Given the description of an element on the screen output the (x, y) to click on. 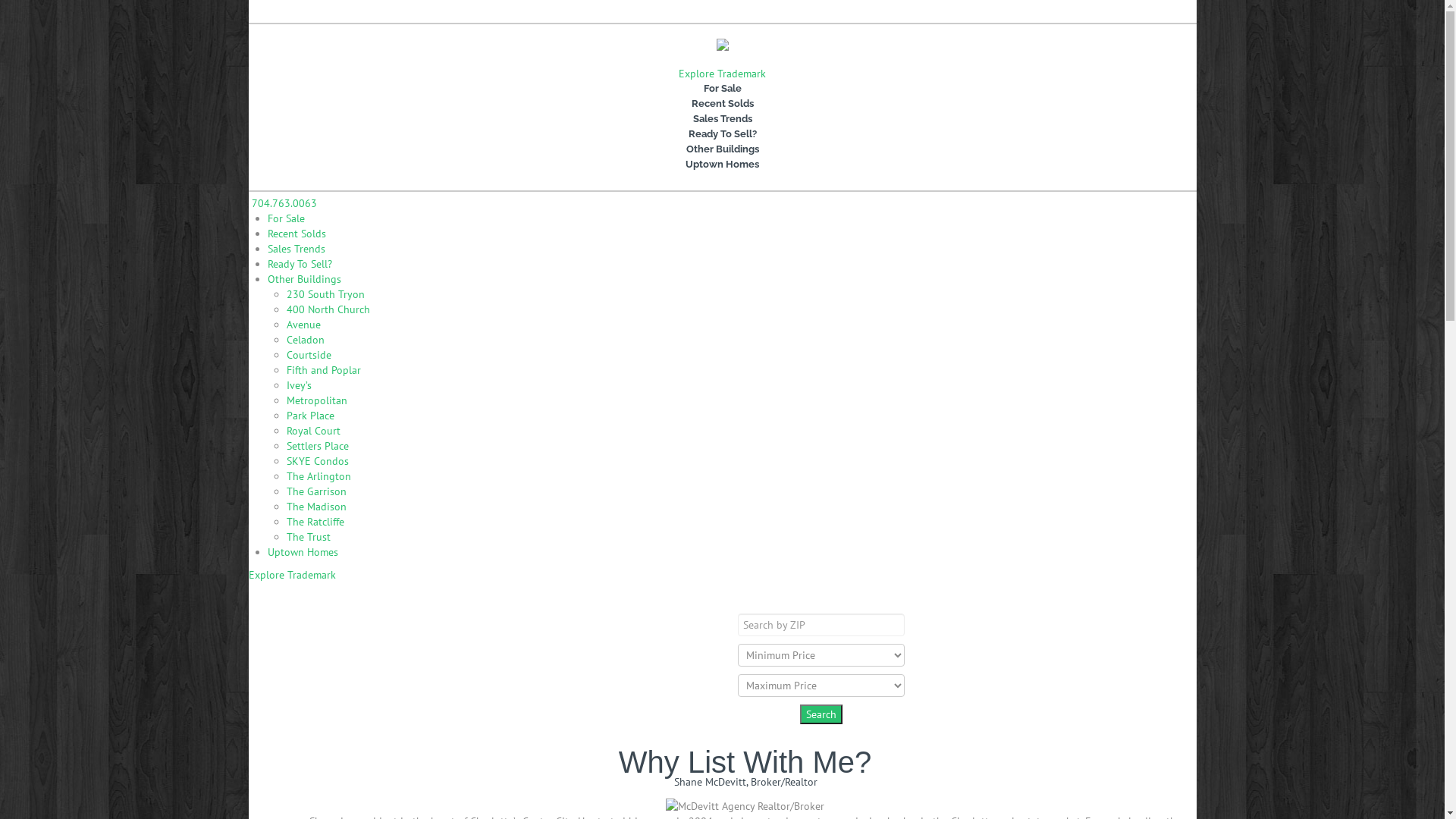
Royal Court Element type: text (313, 430)
Settlers Place Element type: text (317, 445)
Other Buildings Element type: text (303, 278)
Uptown Homes Element type: text (301, 551)
The Ratcliffe Element type: text (315, 521)
400 North Church Element type: text (328, 309)
Avenue Element type: text (303, 324)
For Sale Element type: text (285, 218)
shane@themcdevittagency.com Element type: text (417, 11)
230 South Tryon Element type: text (325, 294)
SKYE Condos Element type: text (317, 460)
Recent Solds Element type: text (722, 103)
The Garrison Element type: text (316, 491)
Sales Trends Element type: text (295, 248)
Sales Trends Element type: text (722, 118)
The Trust Element type: text (308, 536)
 704.763.0063 Element type: text (282, 203)
Explore Trademark Element type: text (721, 73)
Courtside Element type: text (308, 354)
Ready To Sell? Element type: text (722, 133)
Ready To Sell? Element type: text (298, 263)
Uptown Homes Element type: text (722, 164)
The Arlington Element type: text (318, 476)
704.763.0063 Element type: text (311, 11)
Park Place Element type: text (310, 415)
Fifth and Poplar Element type: text (323, 369)
For Sale Element type: text (722, 88)
Celadon Element type: text (305, 339)
Recent Solds Element type: text (295, 233)
The Madison Element type: text (316, 506)
Explore Trademark Element type: text (291, 574)
Search Element type: text (820, 714)
Other Buildings Element type: text (722, 148)
Metropolitan Element type: text (316, 400)
